Given the description of an element on the screen output the (x, y) to click on. 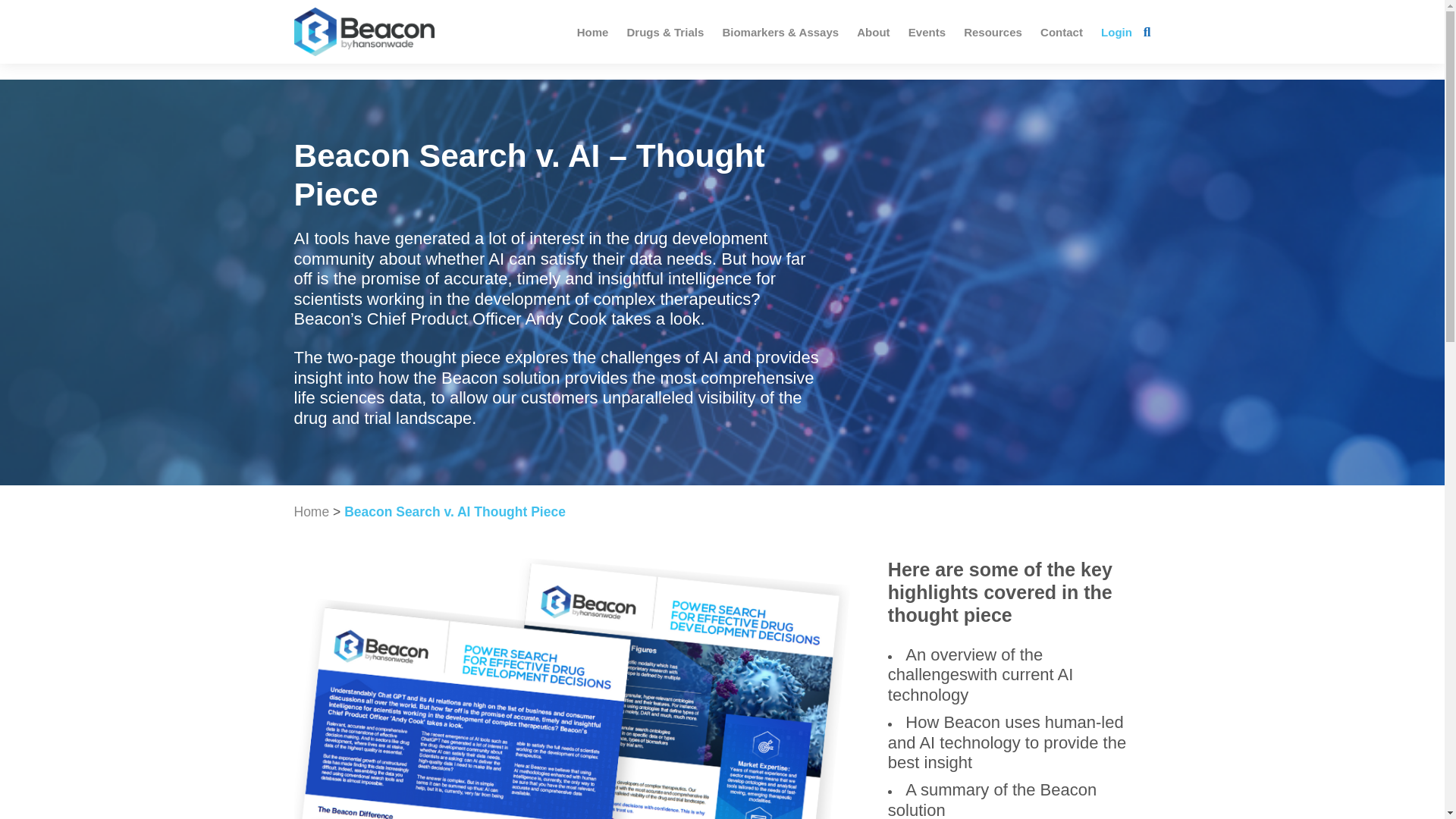
Events (927, 32)
Home (592, 32)
Contact (1061, 32)
Home (312, 511)
Login (1116, 32)
About (872, 32)
Resources (992, 32)
